Given the description of an element on the screen output the (x, y) to click on. 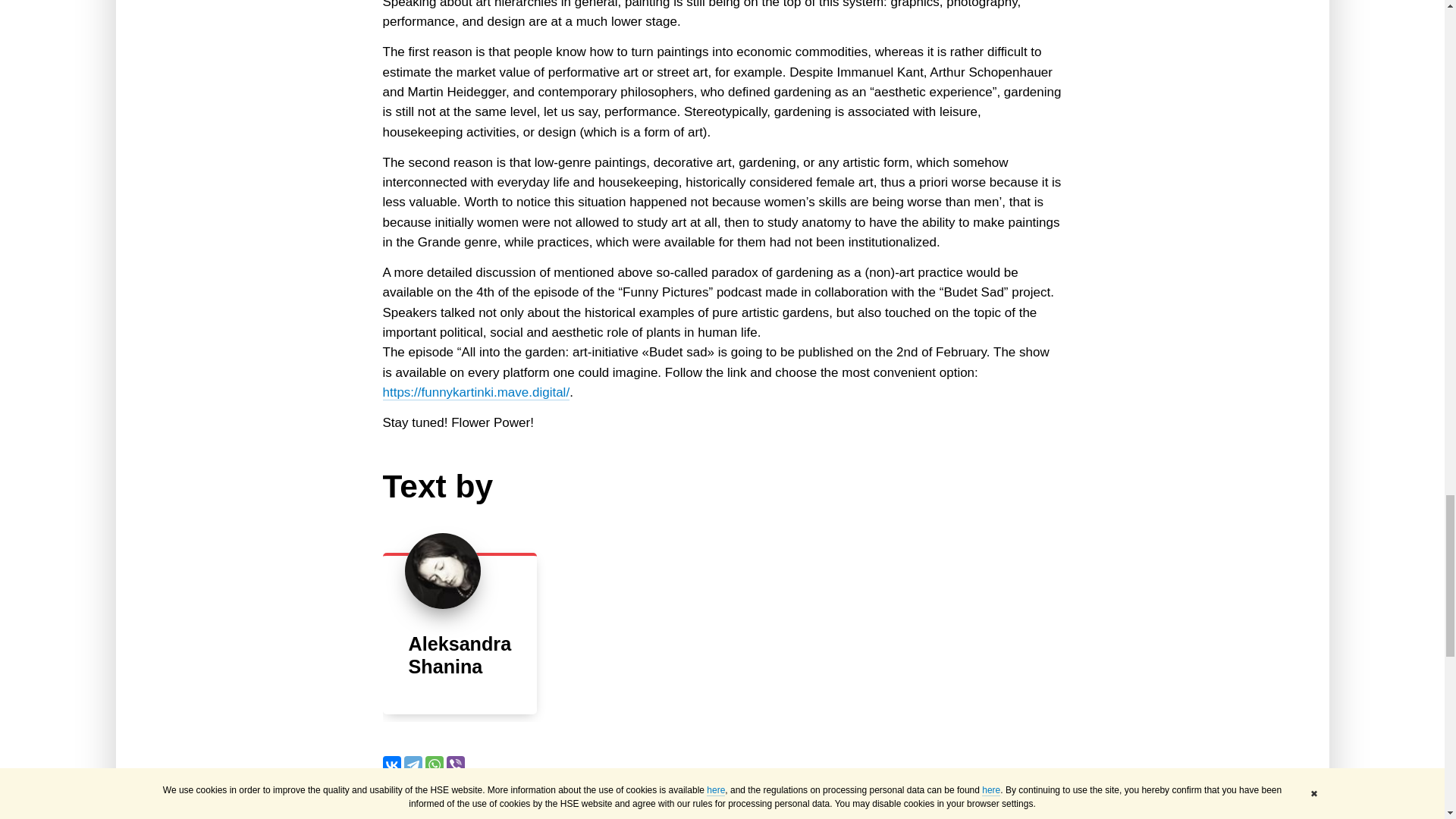
WhatsApp (433, 764)
VKontakte (390, 764)
Telegram (412, 764)
Viber (454, 764)
